Given the description of an element on the screen output the (x, y) to click on. 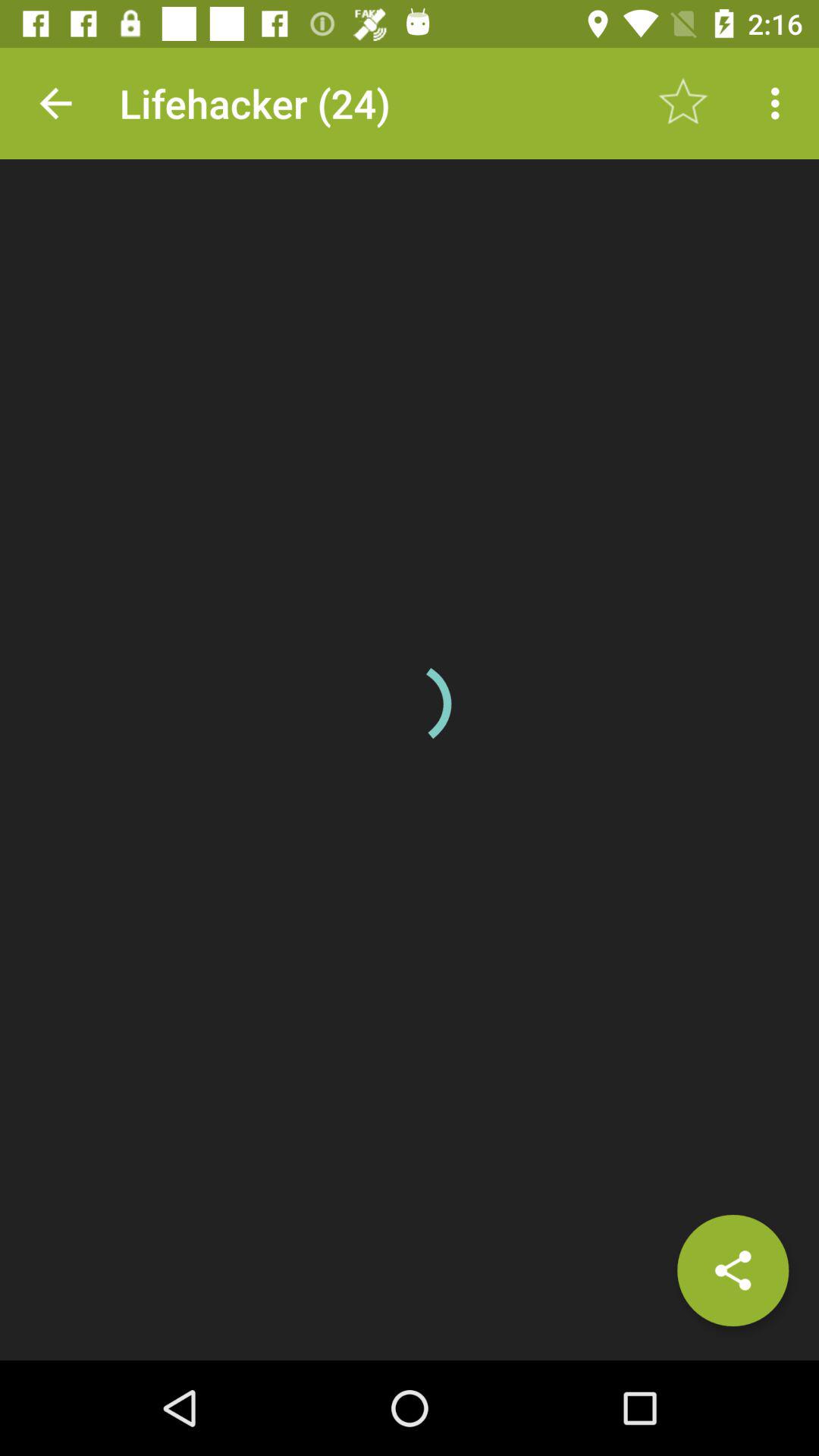
clickable share button (733, 1270)
